Given the description of an element on the screen output the (x, y) to click on. 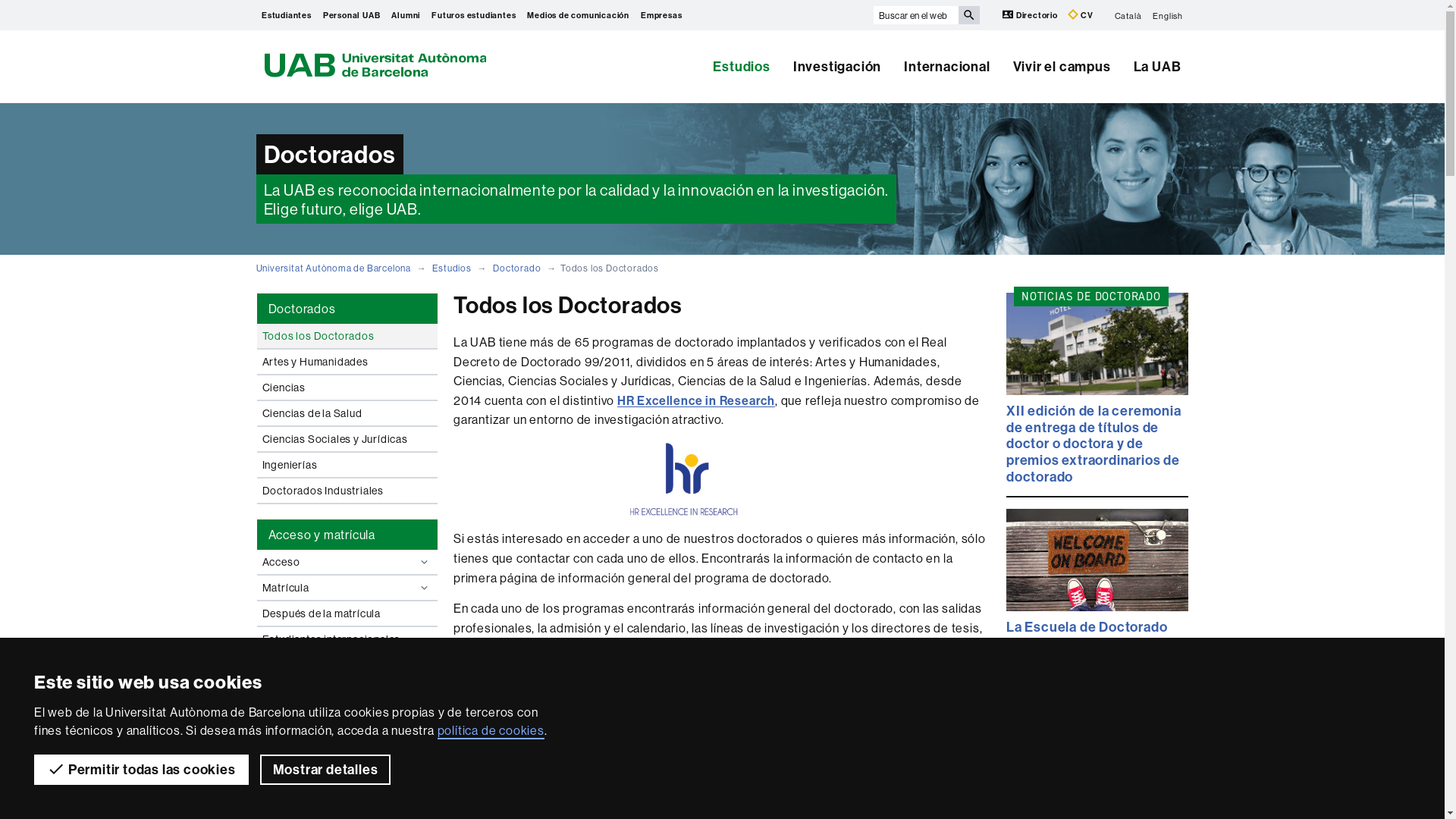
La UAB Element type: text (1151, 67)
Permitir todas las cookies Element type: text (141, 769)
Actividades formativas por competencias Element type: text (346, 796)
Ciencias de la Salud Element type: text (346, 413)
Mostrar detalles Element type: text (325, 769)
Internacional Element type: text (946, 67)
Doctorado Element type: text (516, 267)
Ciencias Element type: text (346, 387)
Actividades de cursos anteriores e informes finales Element type: text (346, 756)
Estudiantes internacionales Element type: text (346, 639)
Estudios Element type: text (741, 67)
Estudios Element type: text (451, 267)
Actividades formativas curso 2023-2024 Element type: text (346, 717)
Vivir el campus Element type: text (1061, 67)
Alumni Element type: text (405, 15)
Empresas Element type: text (661, 15)
English Element type: text (1168, 15)
Lengua y Literatura Catalanas y Estudios Teatrales Element type: text (860, 783)
Futuros estudiantes Element type: text (473, 15)
Personal UAB Element type: text (350, 15)
Doctorados Industriales Element type: text (346, 490)
Todos los Doctorados Element type: text (346, 335)
Ciencia Cognitiva y Lenguaje Element type: text (584, 777)
CV Element type: text (1080, 15)
Historia de la Ciencia Element type: text (860, 727)
Artes y Humanidades Element type: text (346, 361)
Search Element type: text (968, 15)
Acceso Element type: text (346, 561)
HR Excellence in Research Element type: text (696, 399)
Estudiantes Element type: text (286, 15)
Directorio Element type: text (1030, 15)
